Given the description of an element on the screen output the (x, y) to click on. 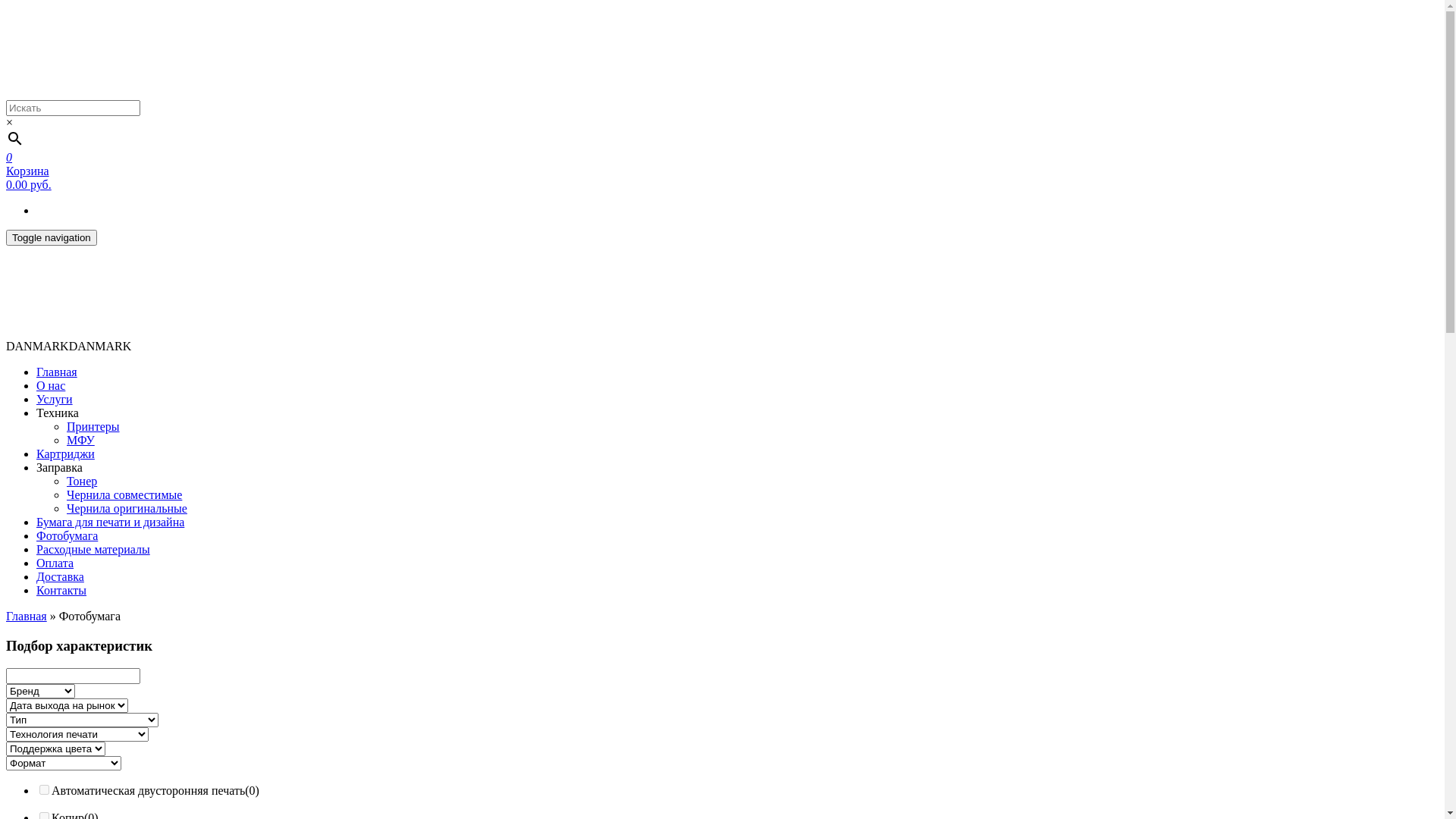
Toggle navigation Element type: text (51, 237)
Toggle navigation Element type: text (51, 236)
